Given the description of an element on the screen output the (x, y) to click on. 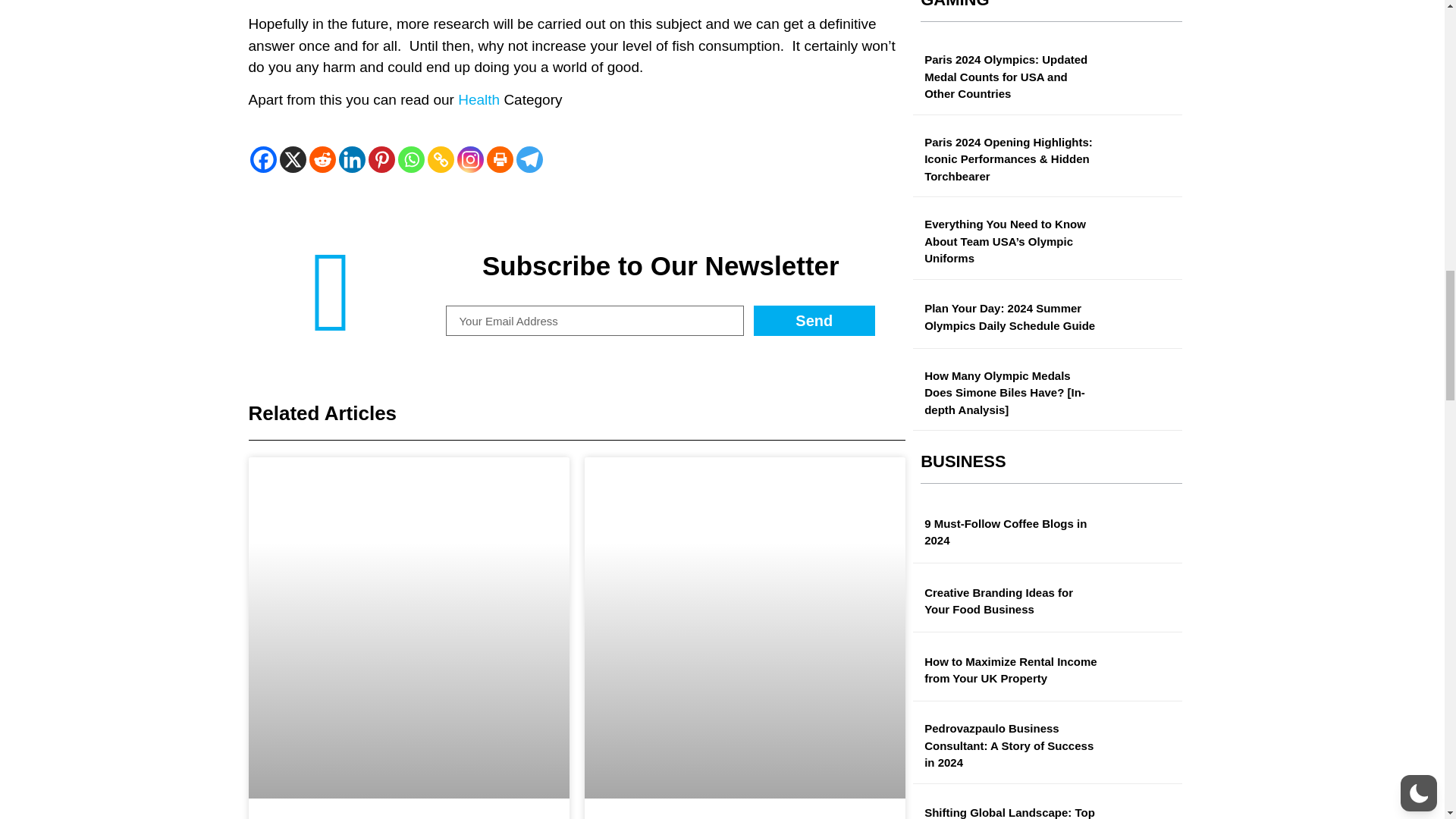
Copy Link (441, 159)
Instagram (470, 159)
X (292, 159)
Pinterest (381, 159)
Linkedin (351, 159)
Reddit (322, 159)
Whatsapp (410, 159)
Facebook (263, 159)
